Given the description of an element on the screen output the (x, y) to click on. 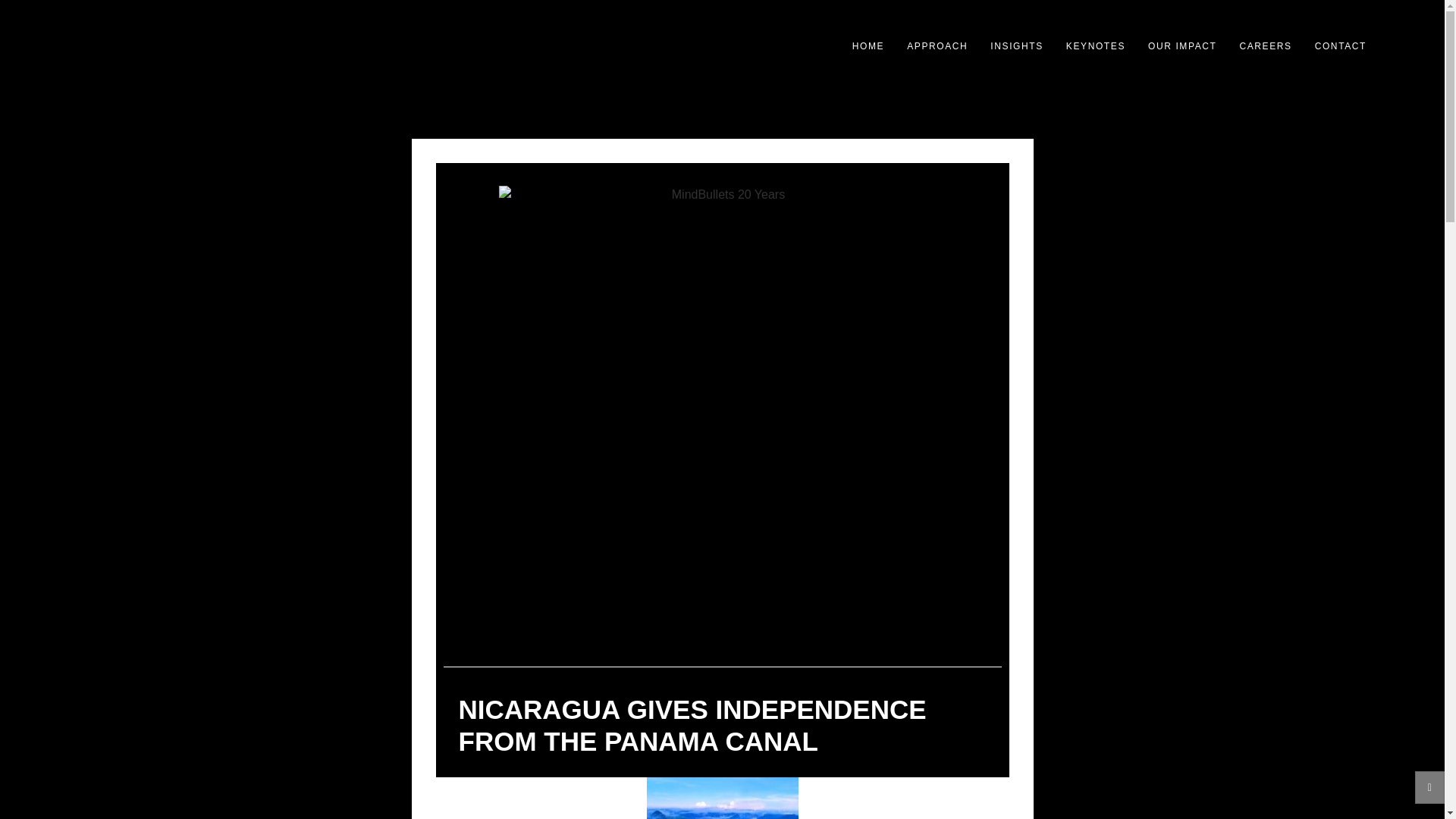
OUR IMPACT (1181, 46)
INSIGHTS (1016, 46)
CAREERS (1265, 46)
APPROACH (937, 46)
CONTACT (1340, 46)
KEYNOTES (1095, 46)
HOME (867, 46)
